Given the description of an element on the screen output the (x, y) to click on. 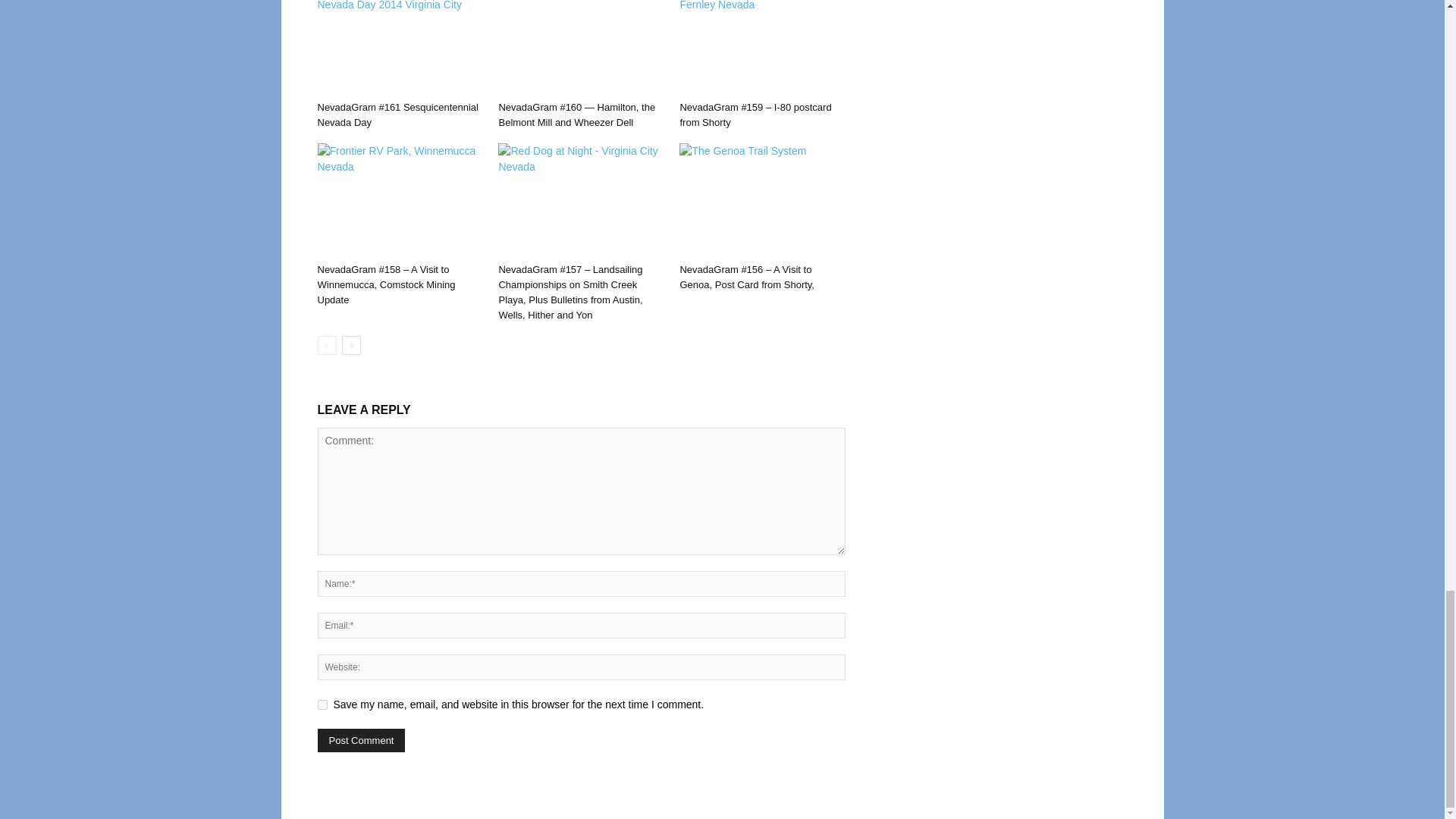
Post Comment (360, 740)
yes (321, 705)
